Given the description of an element on the screen output the (x, y) to click on. 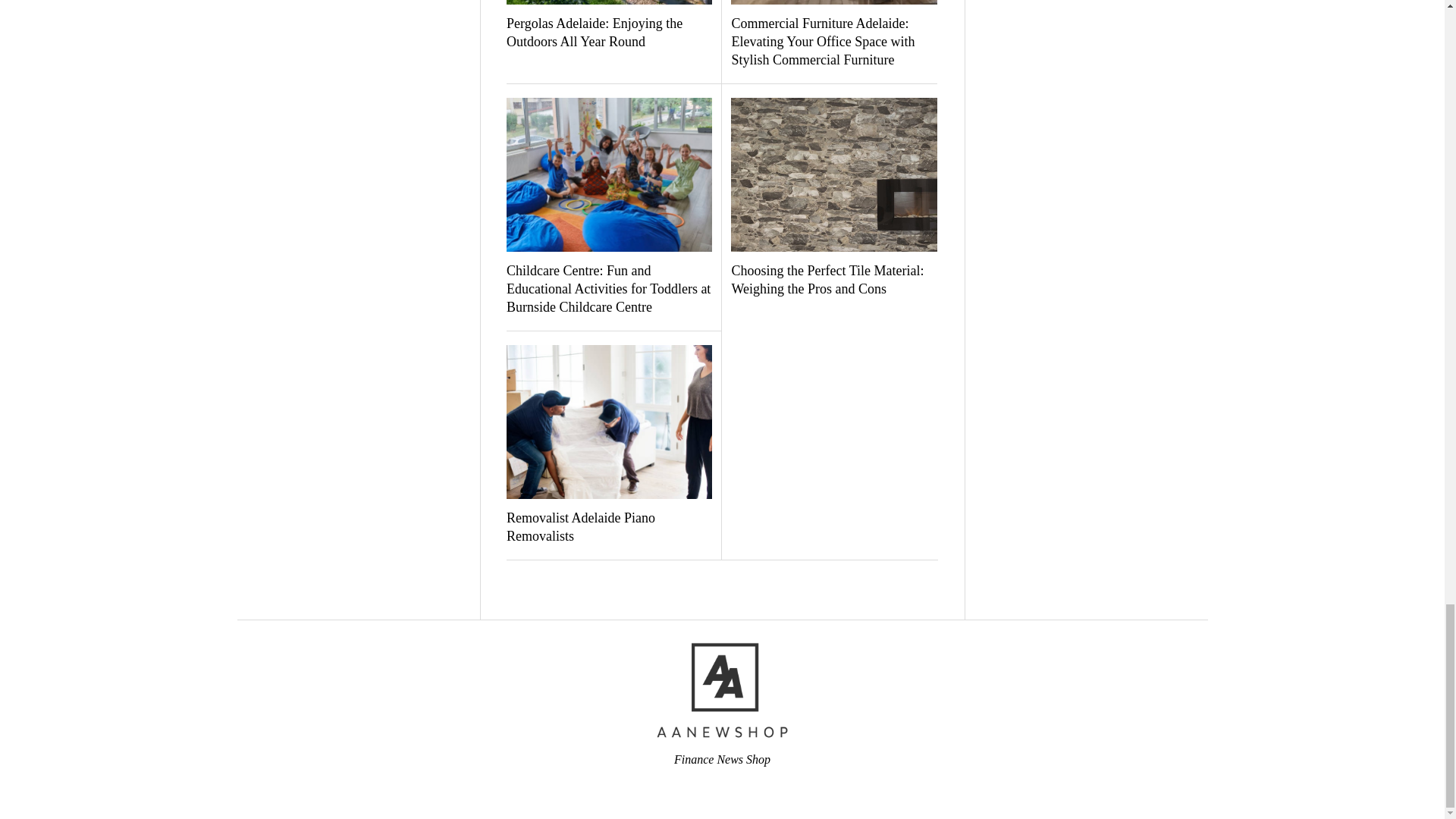
Burnside childcare centre (608, 174)
movers Adelaide (608, 421)
Adelaide pergolas (608, 2)
Removalist Adelaide Piano Removalists (608, 527)
commercial furniture Adelaide (833, 2)
Adelaide tiles (833, 174)
Pergolas Adelaide: Enjoying the Outdoors All Year Round (608, 33)
